Given the description of an element on the screen output the (x, y) to click on. 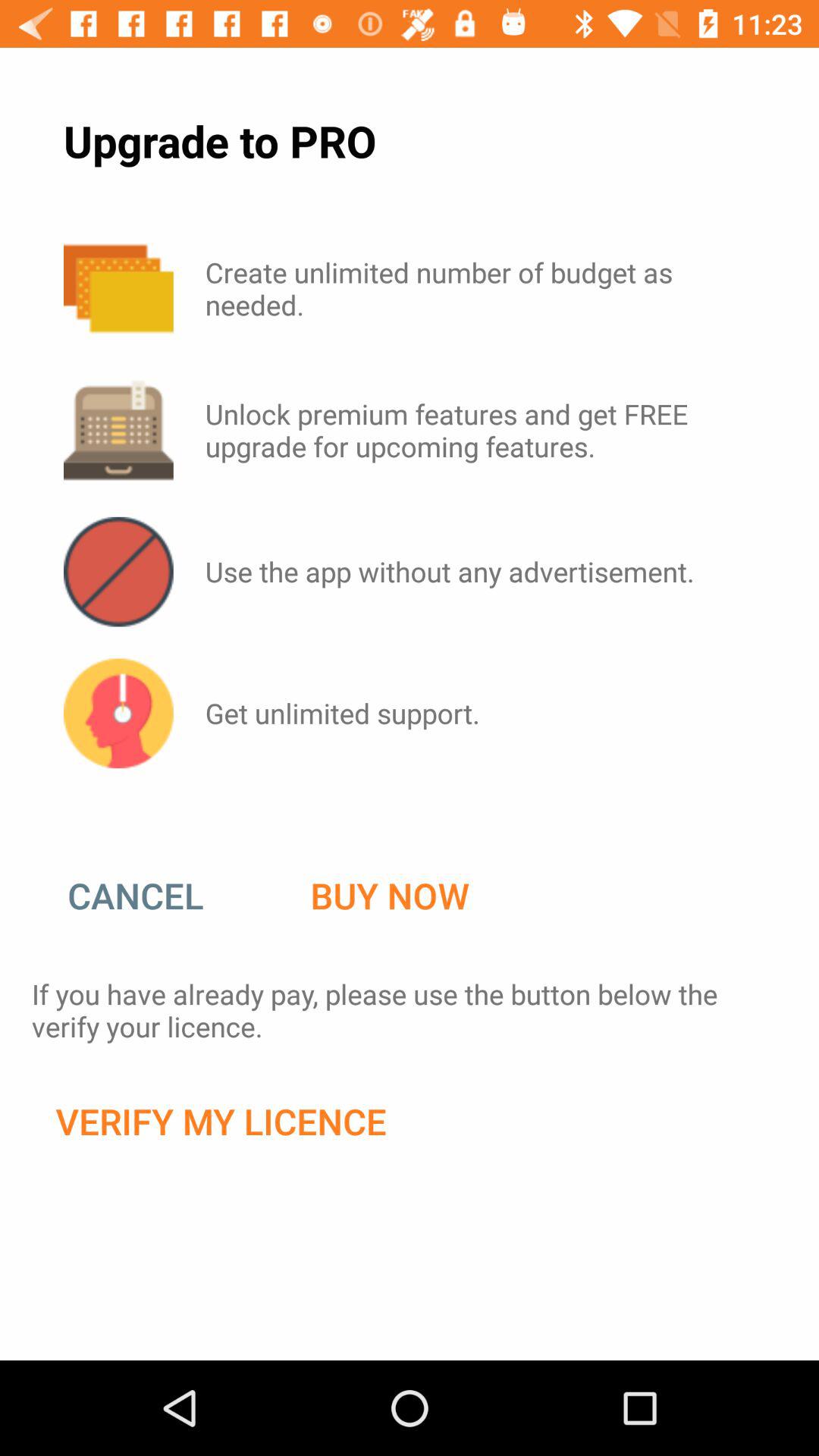
swipe to the buy now icon (389, 895)
